Given the description of an element on the screen output the (x, y) to click on. 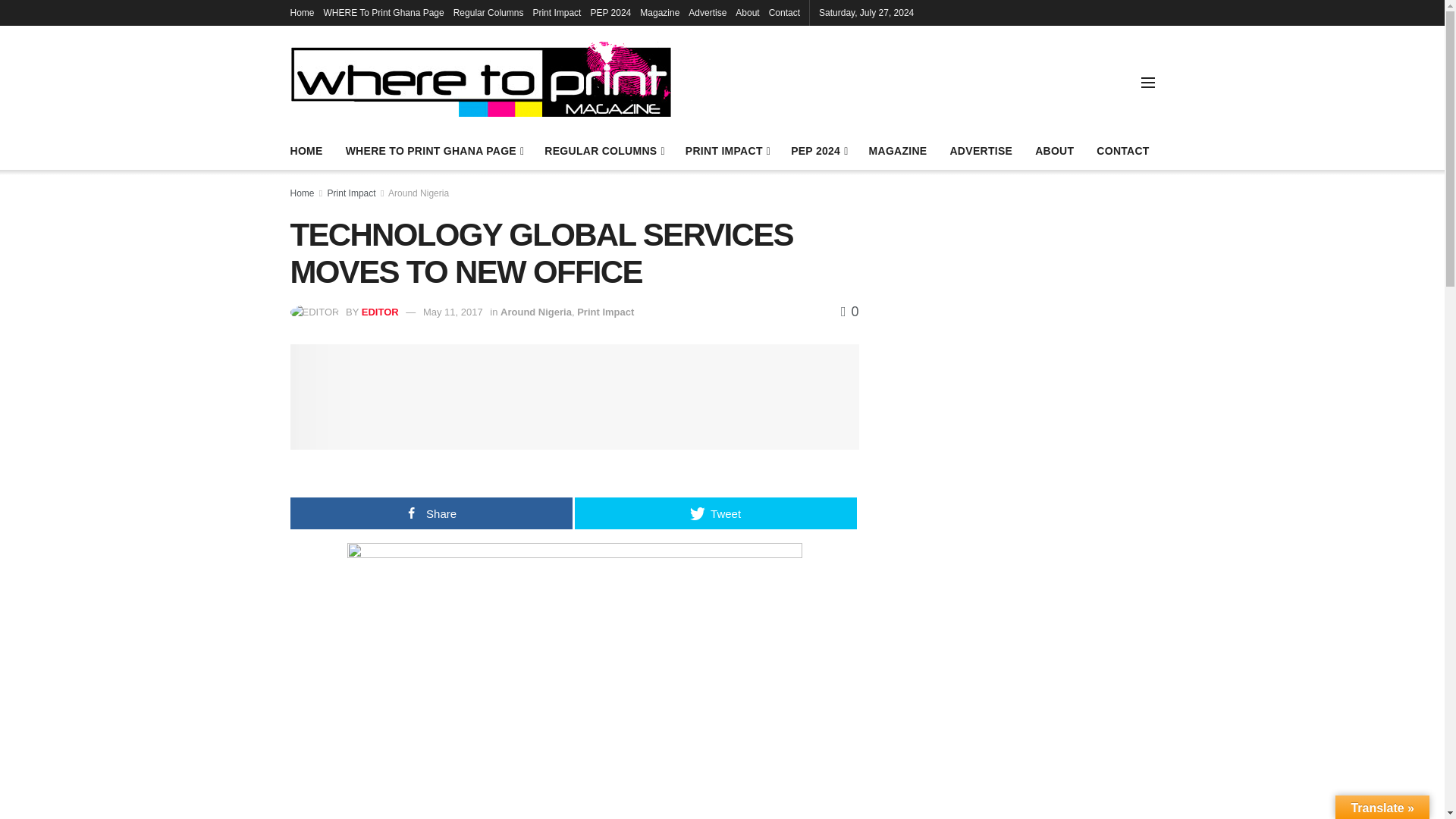
Contact (783, 12)
About (746, 12)
WHERE TO PRINT GHANA PAGE (434, 150)
REGULAR COLUMNS (603, 150)
WHERE To Print Ghana Page (383, 12)
Advertise (707, 12)
Regular Columns (488, 12)
PEP 2024 (609, 12)
HOME (305, 150)
Print Impact (556, 12)
Home (301, 12)
Magazine (659, 12)
